Given the description of an element on the screen output the (x, y) to click on. 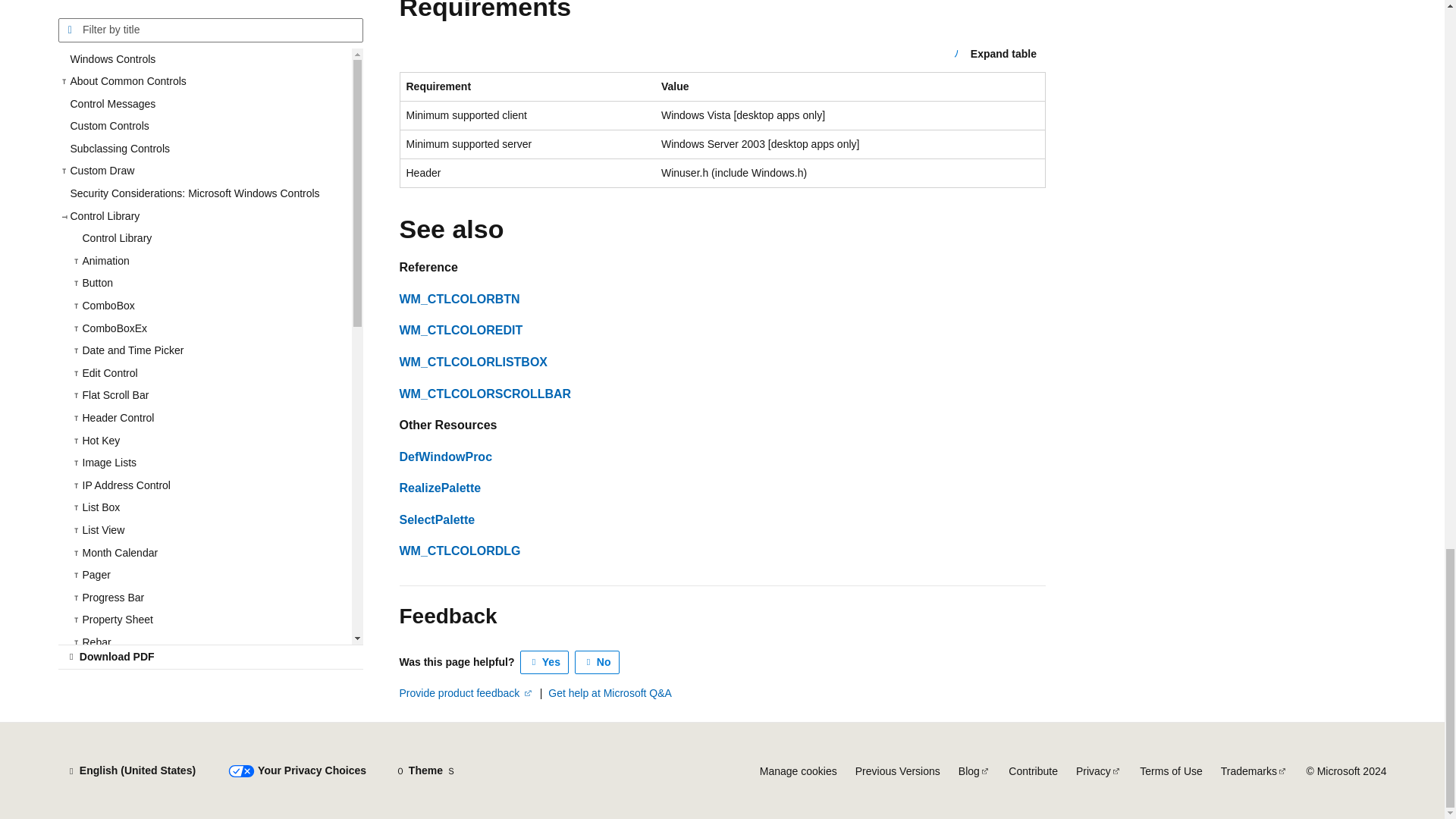
Theme (425, 770)
This article is helpful (544, 662)
This article is not helpful (597, 662)
